Given the description of an element on the screen output the (x, y) to click on. 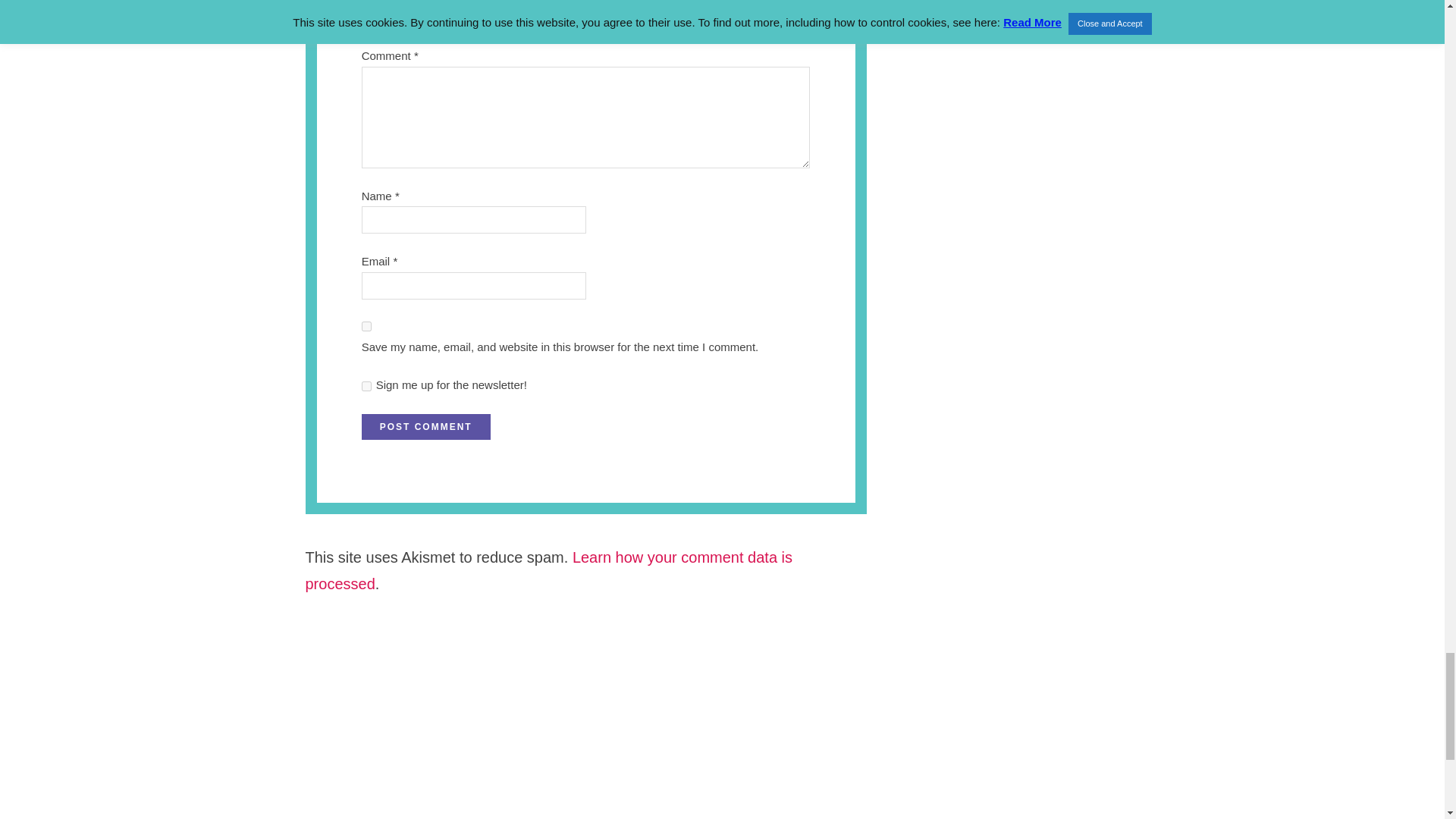
Post Comment (425, 426)
yes (366, 326)
1 (366, 386)
